Given the description of an element on the screen output the (x, y) to click on. 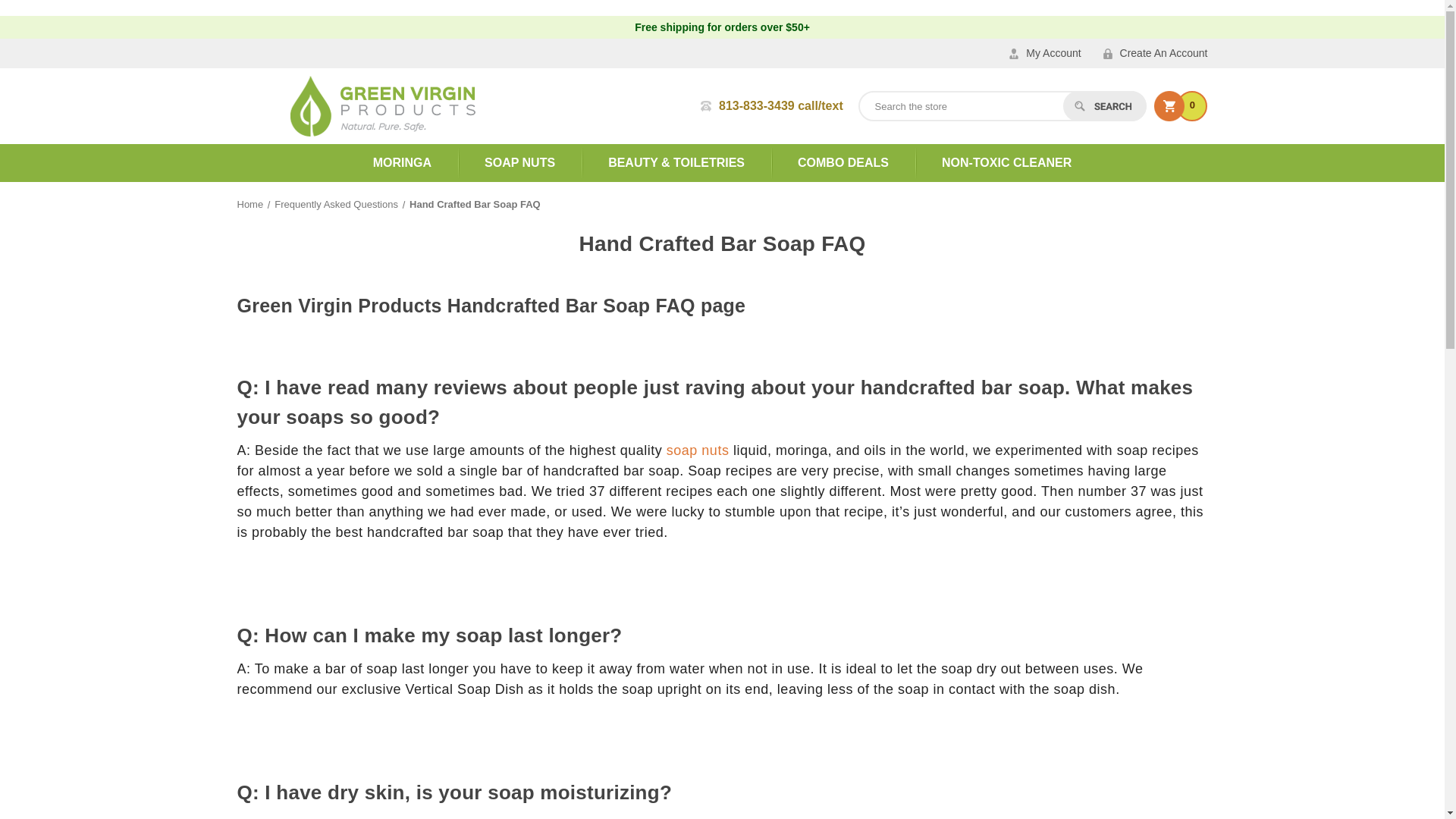
813-833-3439 (771, 105)
0 (1181, 105)
Search (1104, 105)
Green Virgin Products (381, 106)
My Account (1044, 52)
MORINGA (402, 163)
Search (1104, 105)
Create An Account (1155, 52)
